Given the description of an element on the screen output the (x, y) to click on. 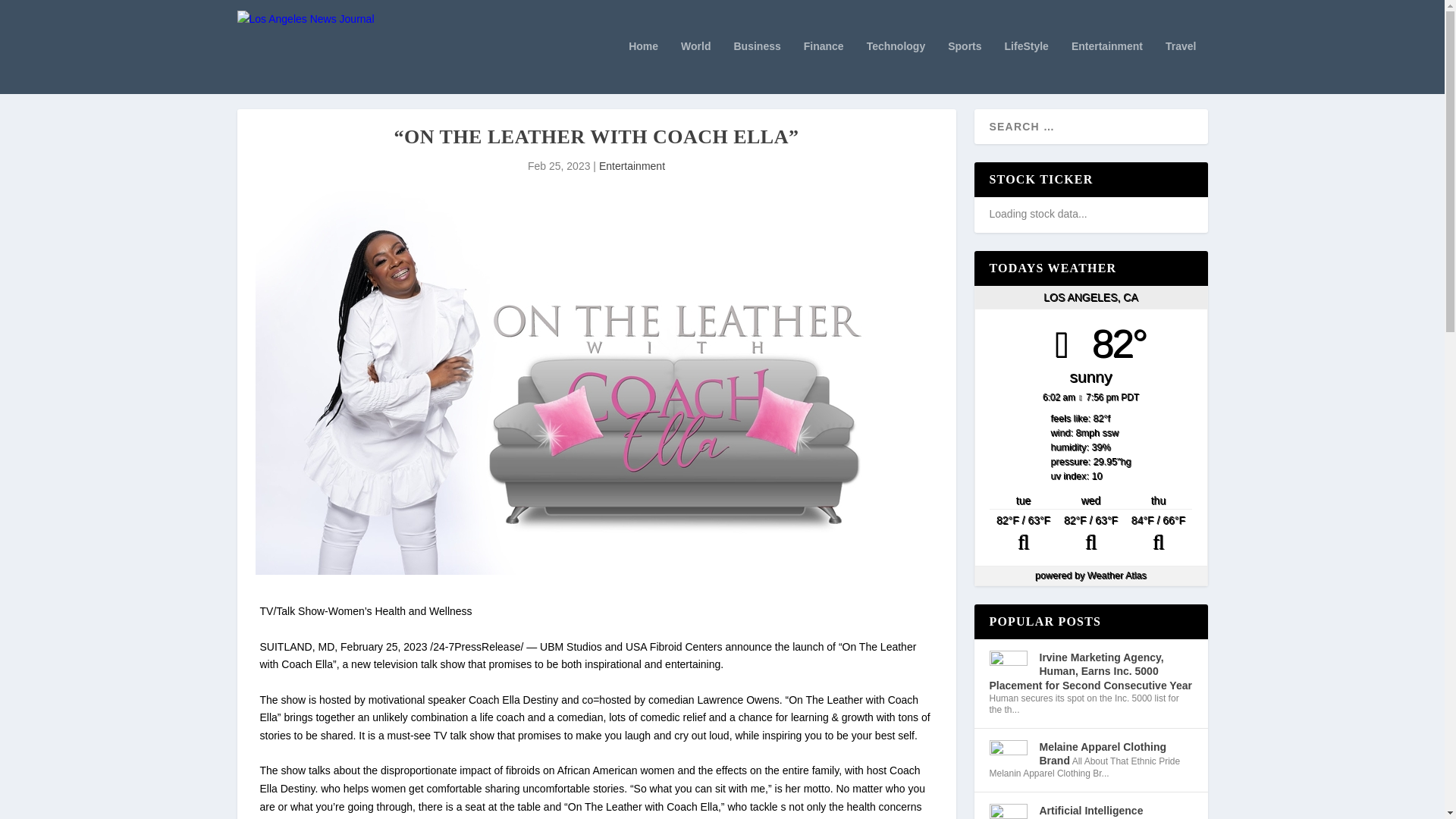
Partly Cloudy (1023, 534)
Entertainment (1106, 67)
Entertainment (631, 165)
Partly Cloudy (1158, 534)
Technology (896, 67)
Partly Cloudy (1090, 534)
Search (31, 13)
